Given the description of an element on the screen output the (x, y) to click on. 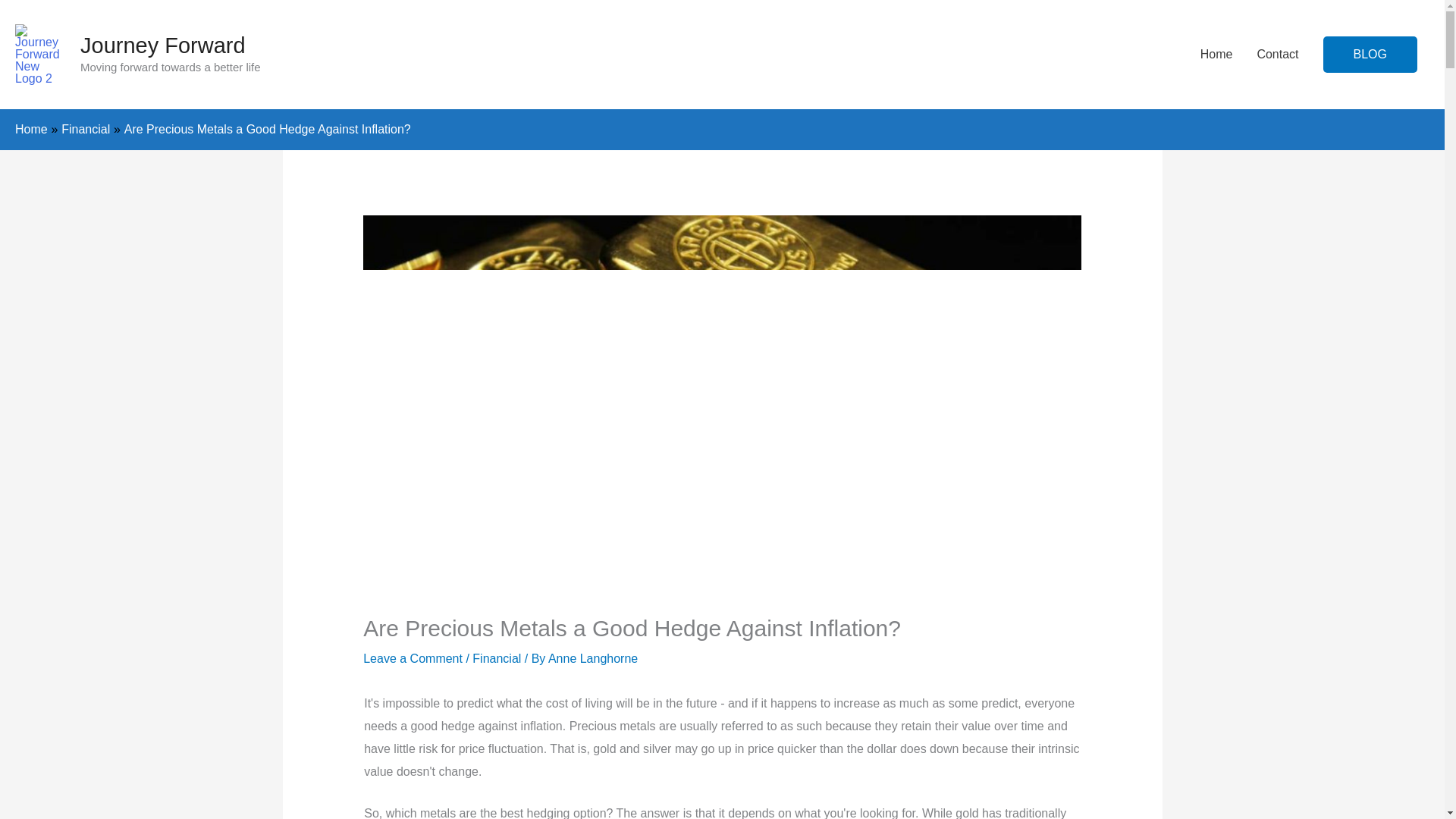
Home (1216, 54)
View all posts by Anne Langhorne (592, 658)
Contact (1277, 54)
Financial (85, 128)
Journey Forward (163, 45)
Leave a Comment (412, 658)
Financial (496, 658)
Home (31, 128)
Anne Langhorne (592, 658)
BLOG (1369, 54)
